Given the description of an element on the screen output the (x, y) to click on. 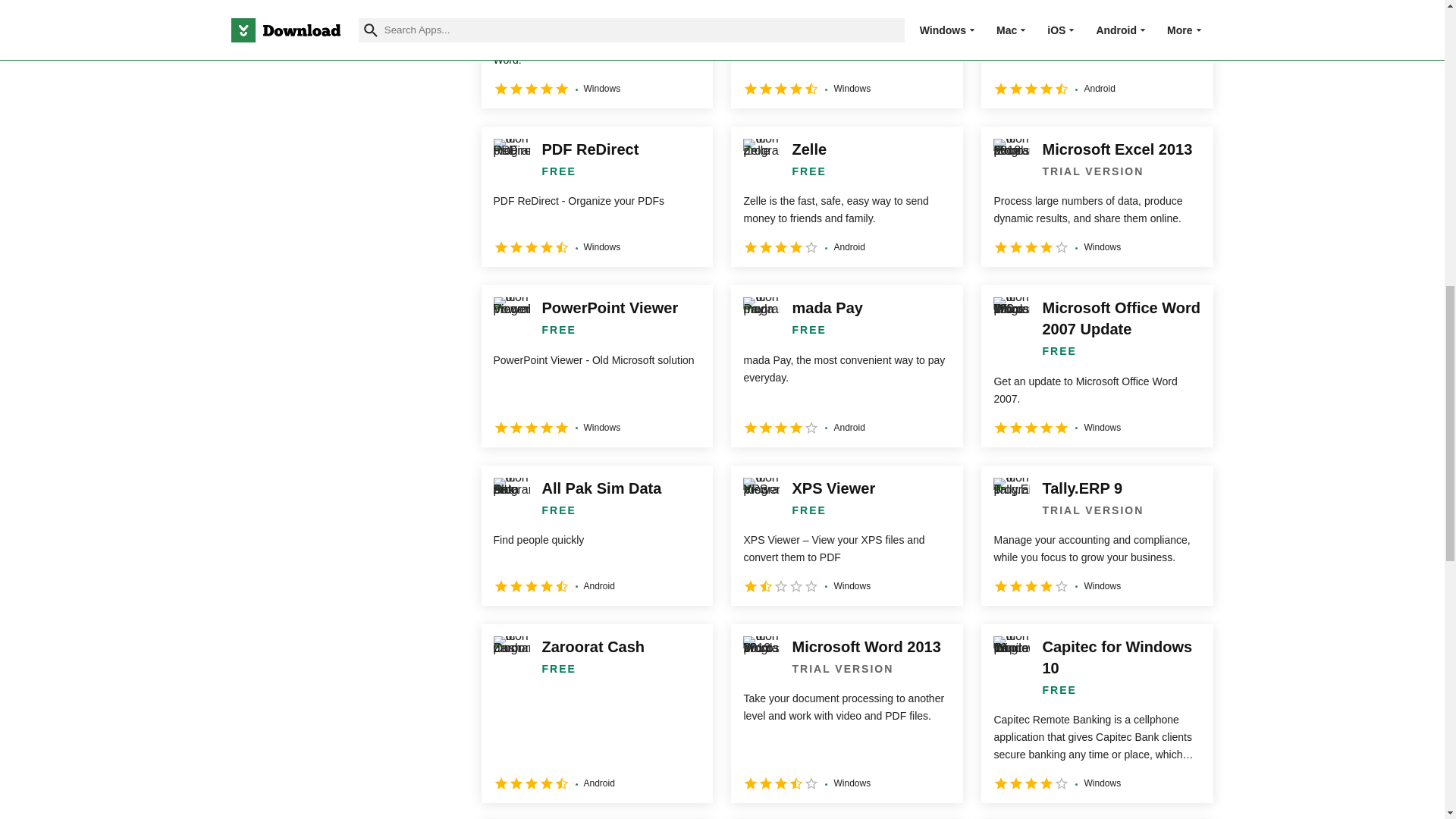
XPS Viewer (846, 536)
Free Barcode Generator (596, 54)
All Pak Sim Data (596, 536)
Microsoft Excel 2013 (1096, 196)
PowerPoint Viewer (596, 365)
Microsoft Office Word 2007 Update (1096, 365)
Zelle (846, 196)
mada Pay (846, 365)
Tally.ERP 9 (1096, 536)
PDF ReDirect (596, 196)
